Given the description of an element on the screen output the (x, y) to click on. 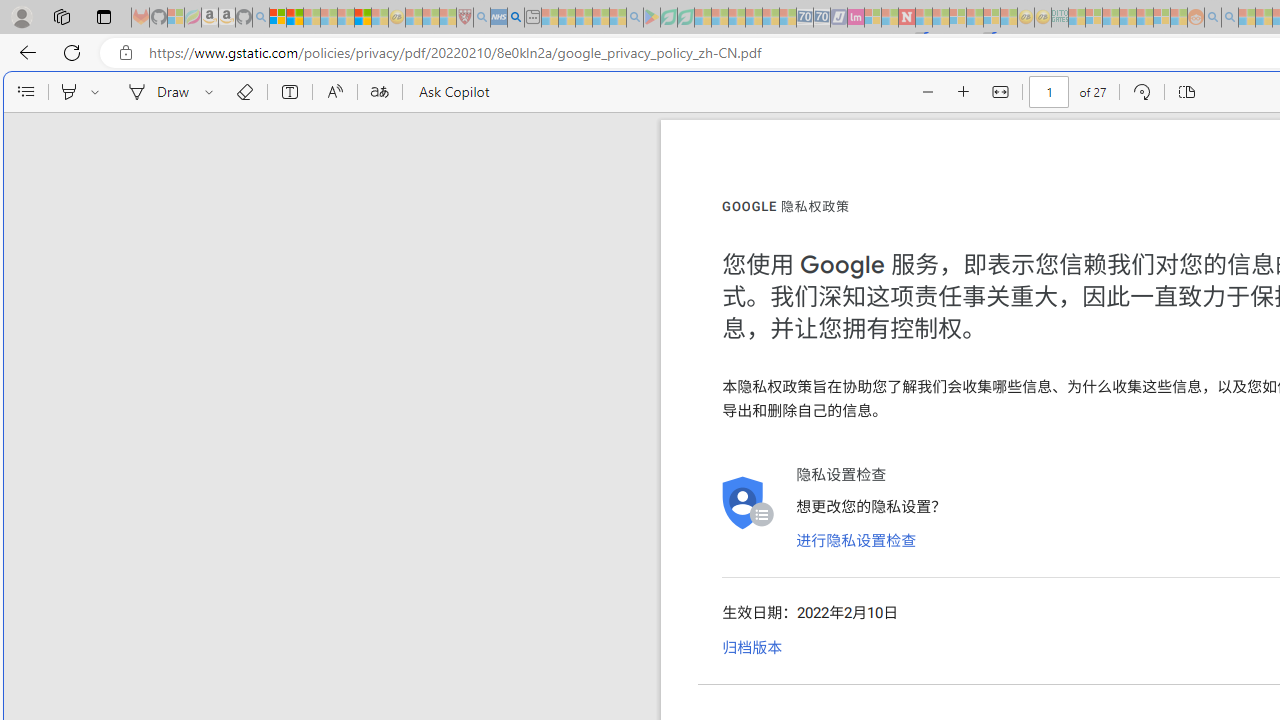
Fit to width (Ctrl+\) (999, 92)
Rotate (Ctrl+]) (1140, 92)
Read aloud (334, 92)
Microsoft account | Privacy - Sleeping (1093, 17)
Page view (1185, 92)
Translate (379, 92)
Zoom out (Ctrl+Minus key) (928, 92)
Contents (25, 92)
